Given the description of an element on the screen output the (x, y) to click on. 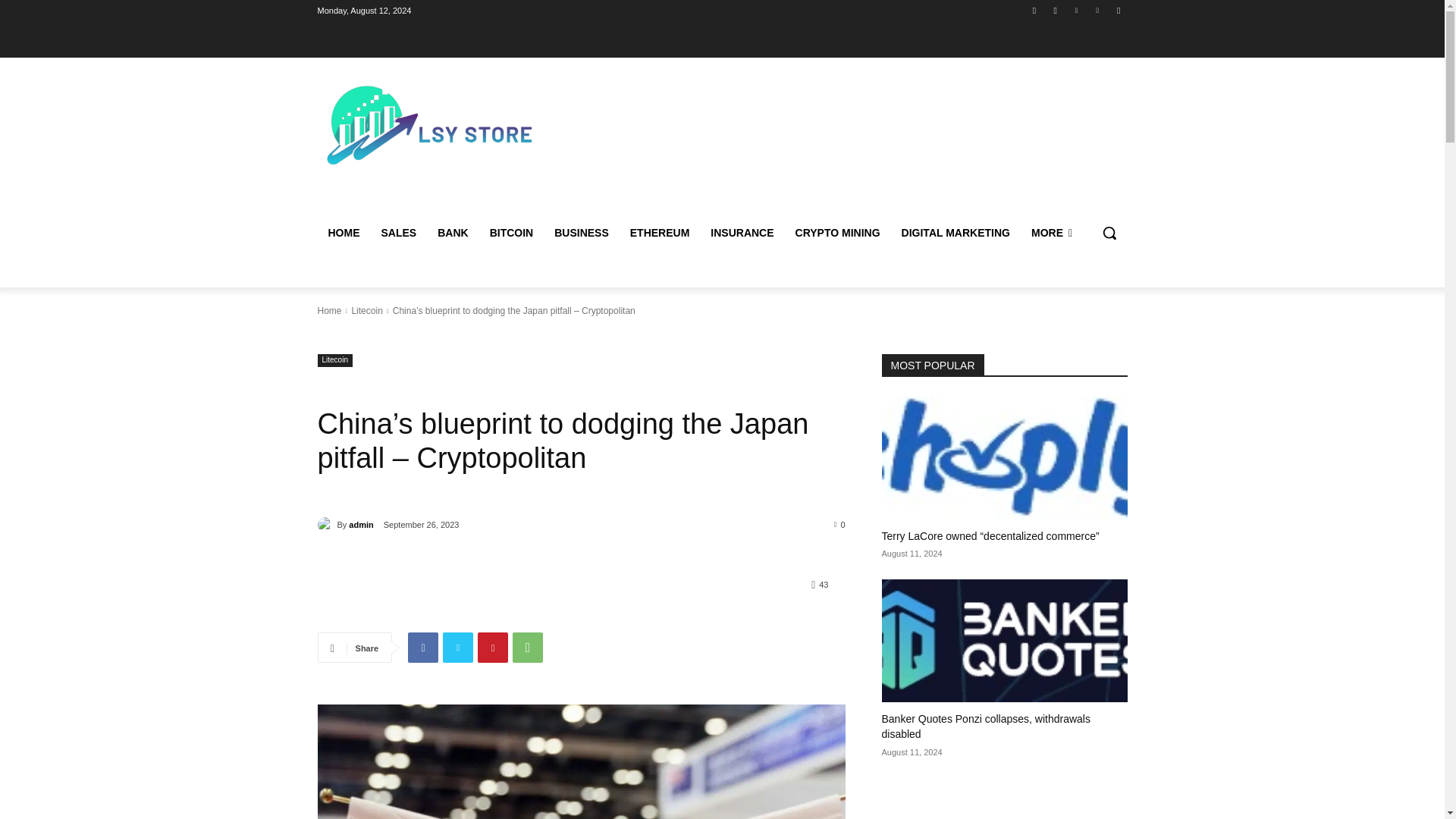
Vimeo (1097, 9)
Facebook (1034, 9)
Instagram (1055, 9)
Youtube (1117, 9)
Twitter (1075, 9)
